Given the description of an element on the screen output the (x, y) to click on. 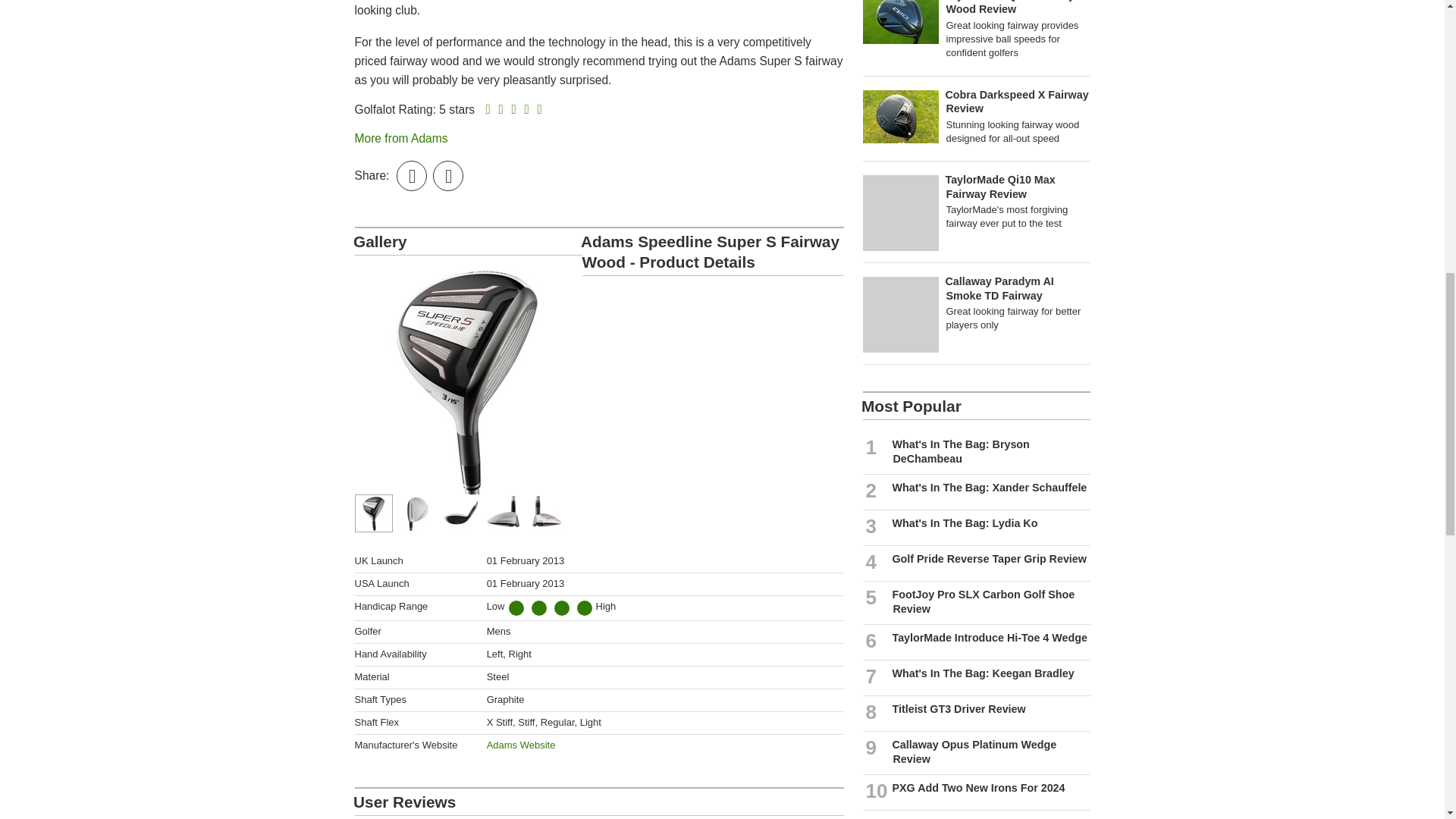
More from Adams (401, 137)
Adams Speedline Super S Fairway Face (462, 513)
Adams Speedline Super S Fairway - Address (419, 513)
Adams Speedline Super S Fairway (376, 513)
Adams Speedline Super S Fairway - Heel (546, 513)
Adams Speedline Super S Fairway - Toe (505, 513)
Adams Website (521, 745)
